Given the description of an element on the screen output the (x, y) to click on. 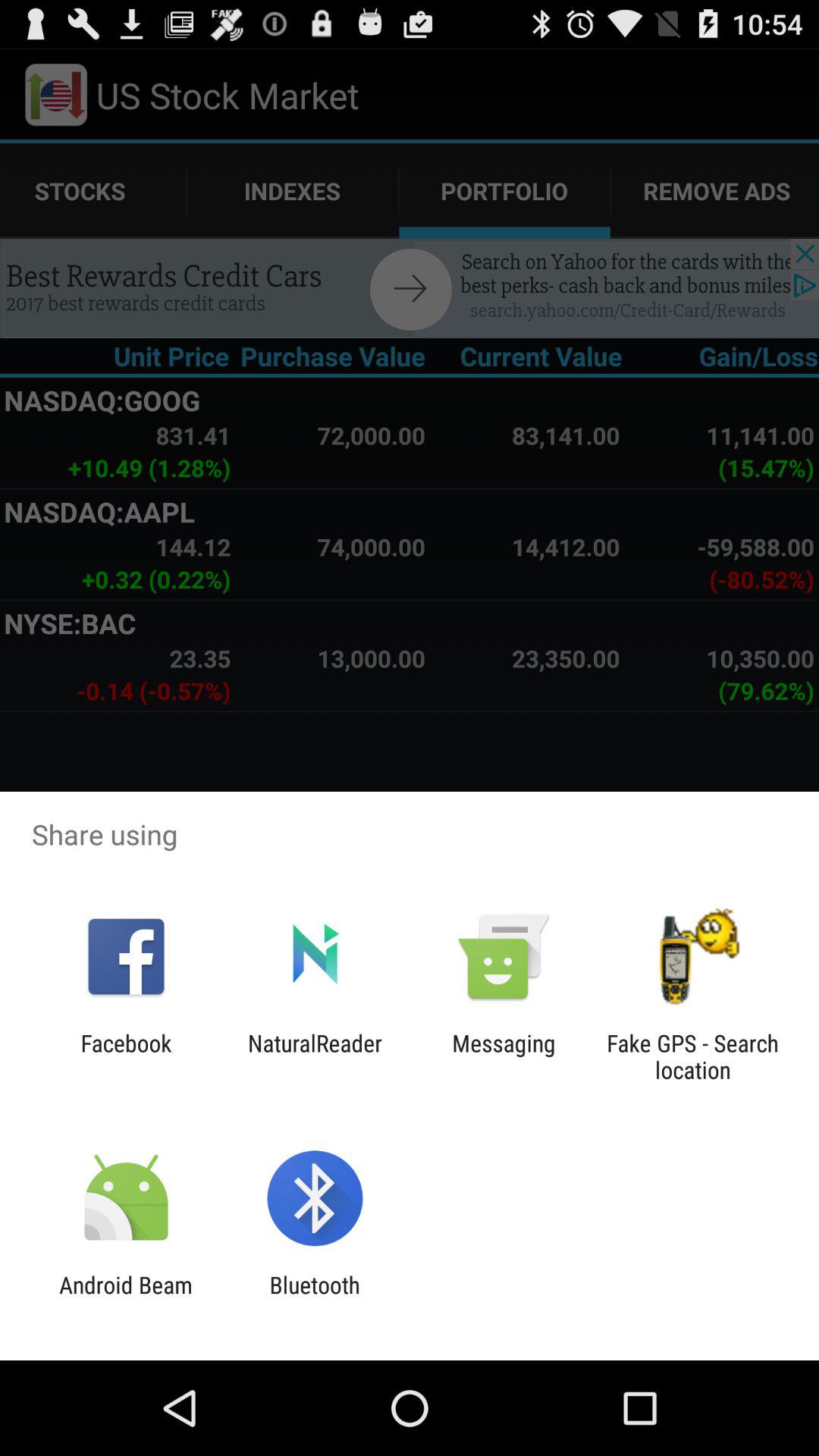
turn off the app next to messaging item (692, 1056)
